Given the description of an element on the screen output the (x, y) to click on. 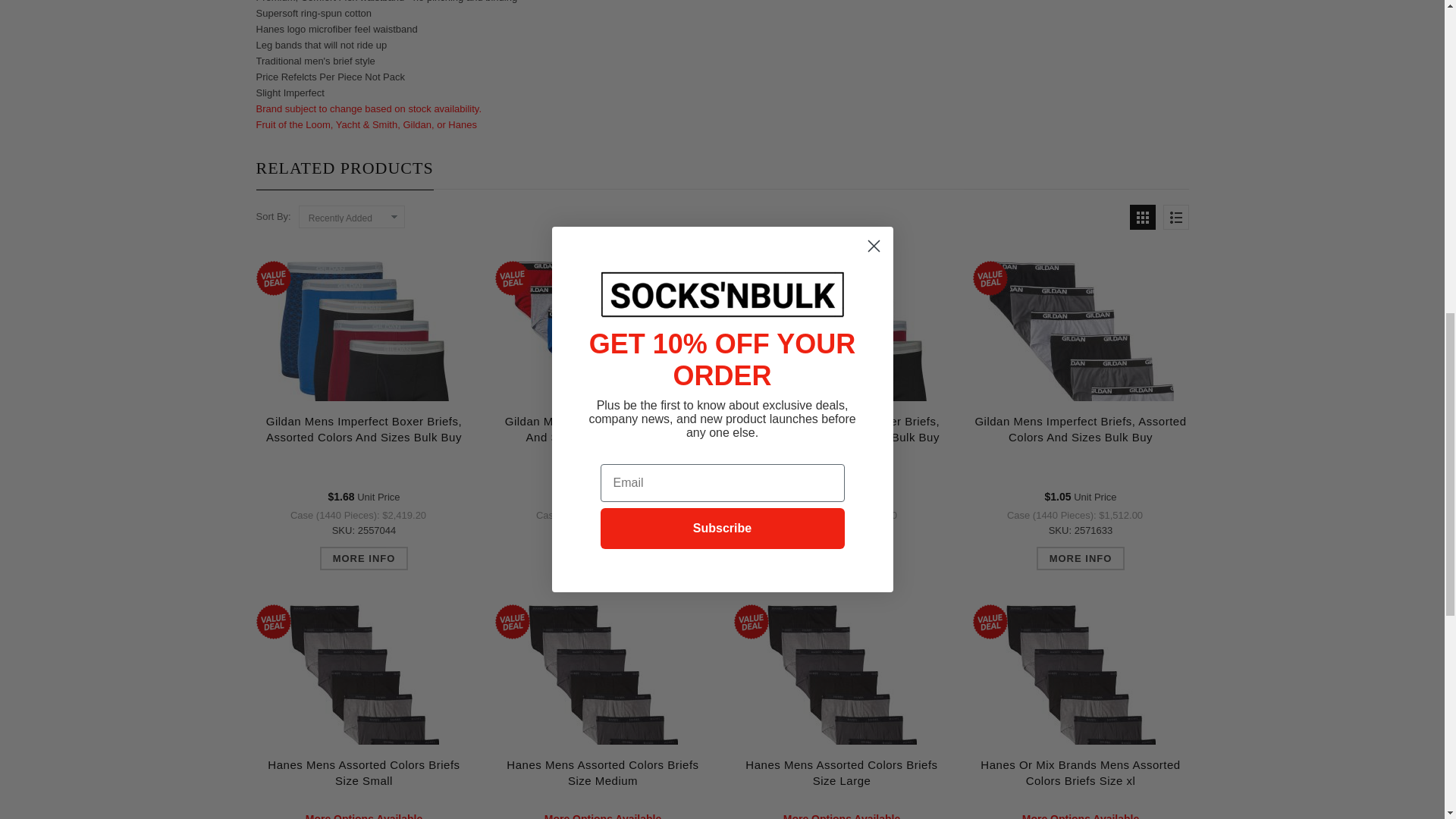
More Info (841, 558)
List (1176, 217)
More Info (1080, 558)
More Info (364, 558)
More Info (603, 558)
Grid (1142, 217)
